Given the description of an element on the screen output the (x, y) to click on. 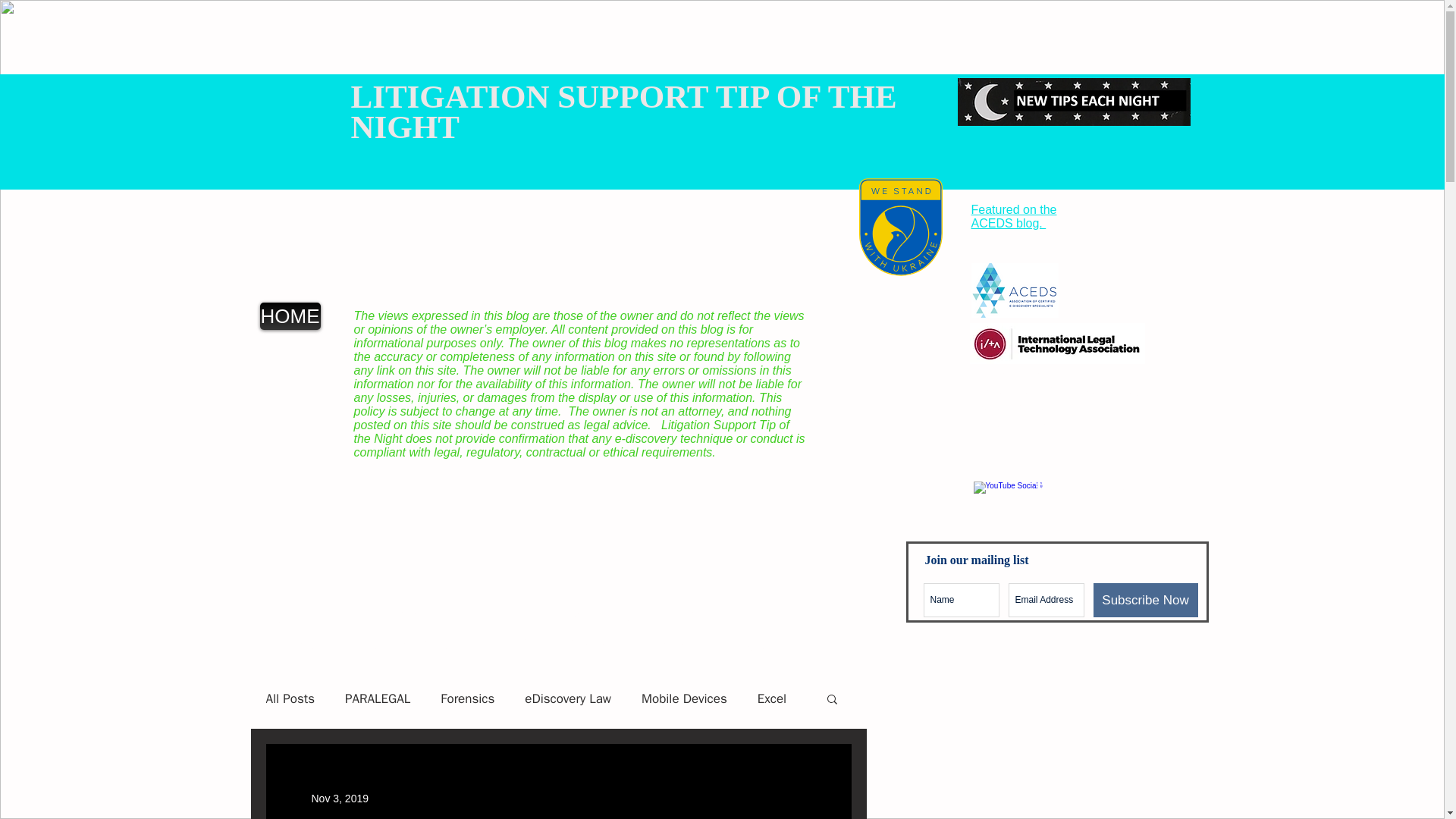
See How-To Videos on my  YouTube channel. (1104, 494)
Subscribe Now (1145, 600)
PARALEGAL (377, 698)
Featured on the ACEDS blog.  (1014, 216)
eDiscovery Law (567, 698)
All Posts (289, 698)
Mobile Devices (684, 698)
Forensics (468, 698)
HOME (289, 316)
